Given the description of an element on the screen output the (x, y) to click on. 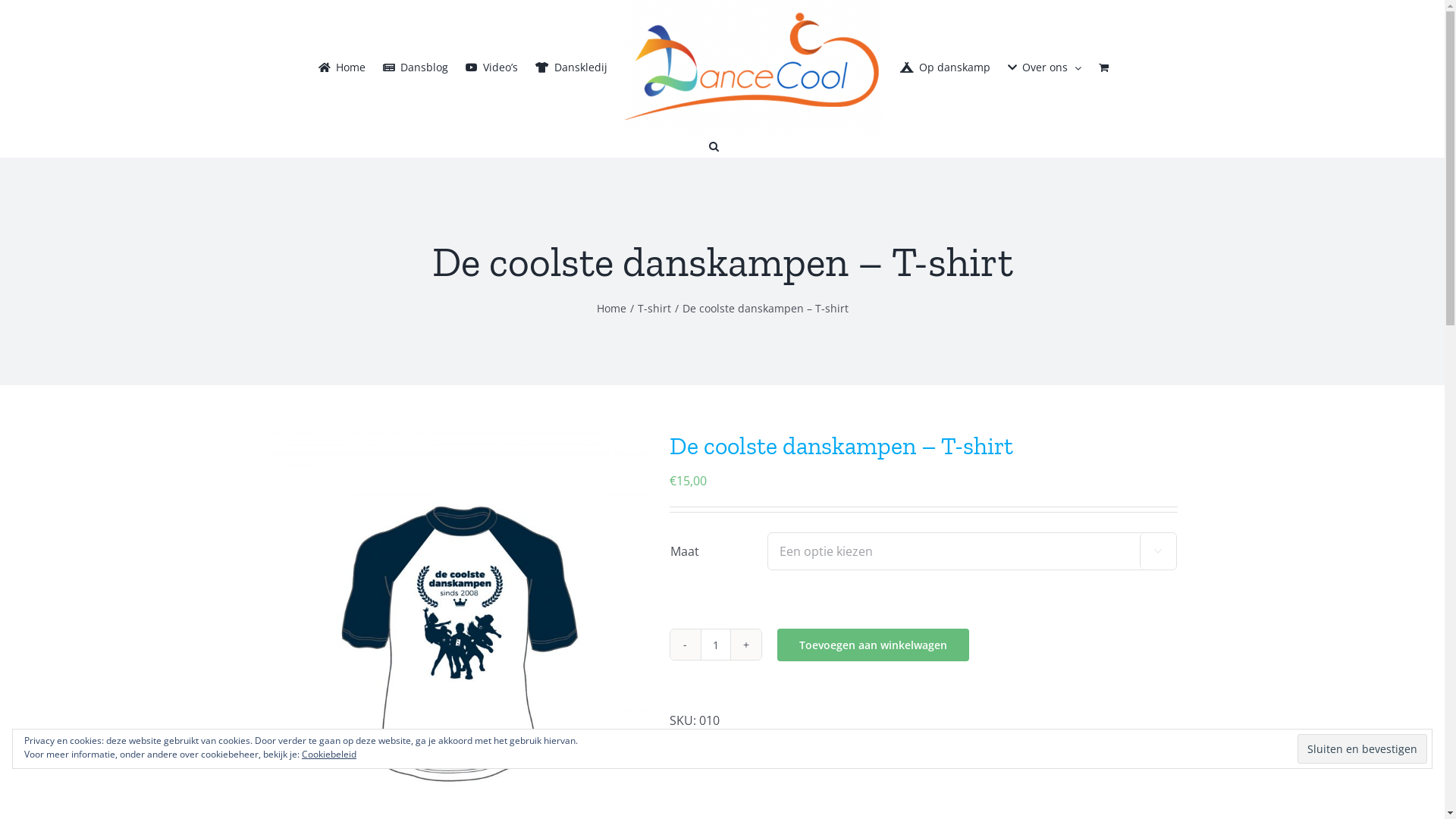
Dansblog Element type: text (415, 67)
Zoeken Element type: hover (713, 145)
Cookiebeleid Element type: text (328, 753)
T-shirt Element type: text (653, 308)
Home Element type: text (610, 308)
Op danskamp Element type: text (945, 67)
Toevoegen aan winkelwagen Element type: text (872, 644)
Home Element type: text (341, 67)
Aantal Element type: hover (715, 644)
T-shirt Element type: text (749, 742)
Danskledij Element type: text (571, 67)
Sluiten en bevestigen Element type: text (1362, 748)
Over ons Element type: text (1044, 67)
